Given the description of an element on the screen output the (x, y) to click on. 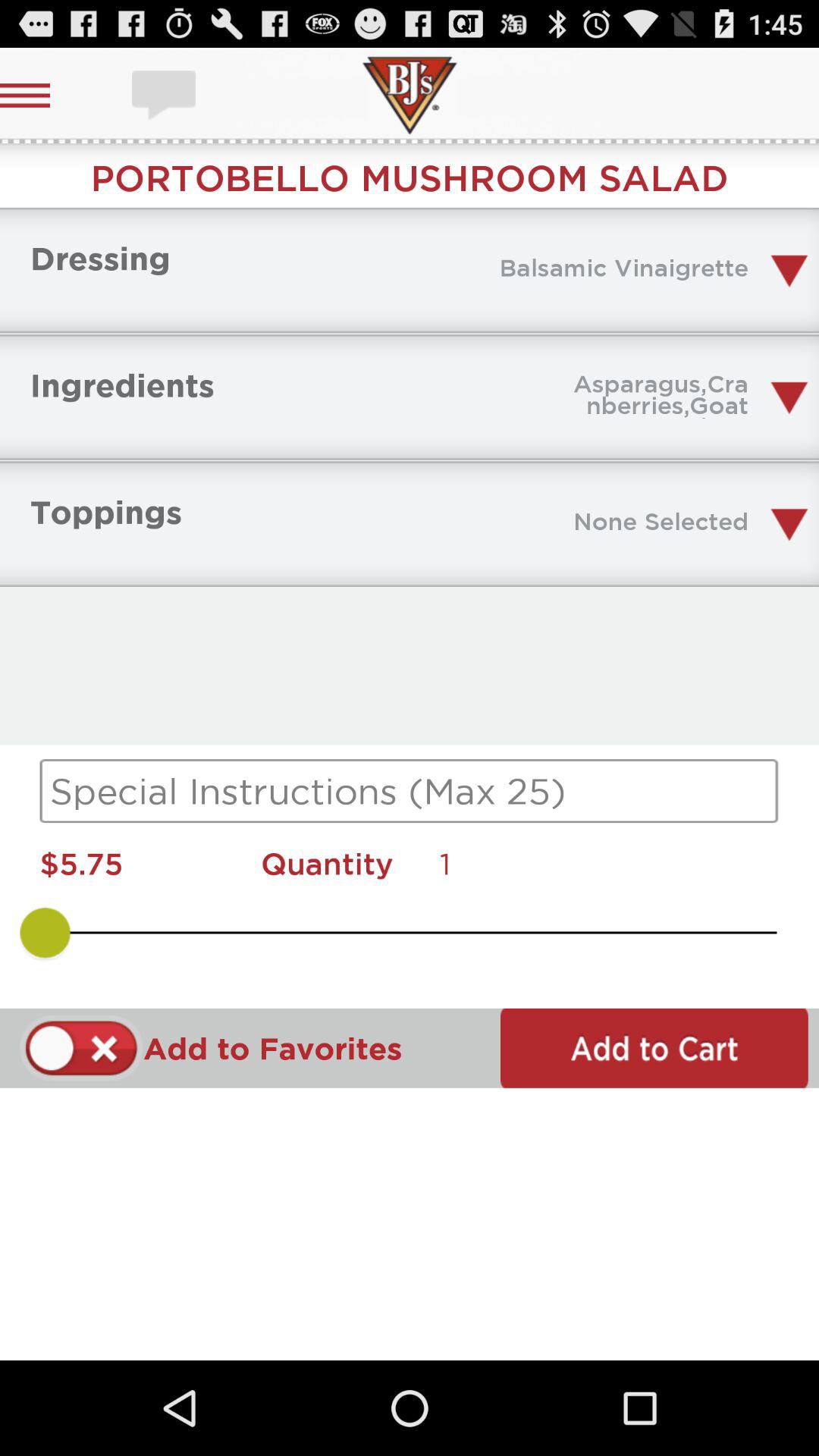
open the chat (165, 95)
